Given the description of an element on the screen output the (x, y) to click on. 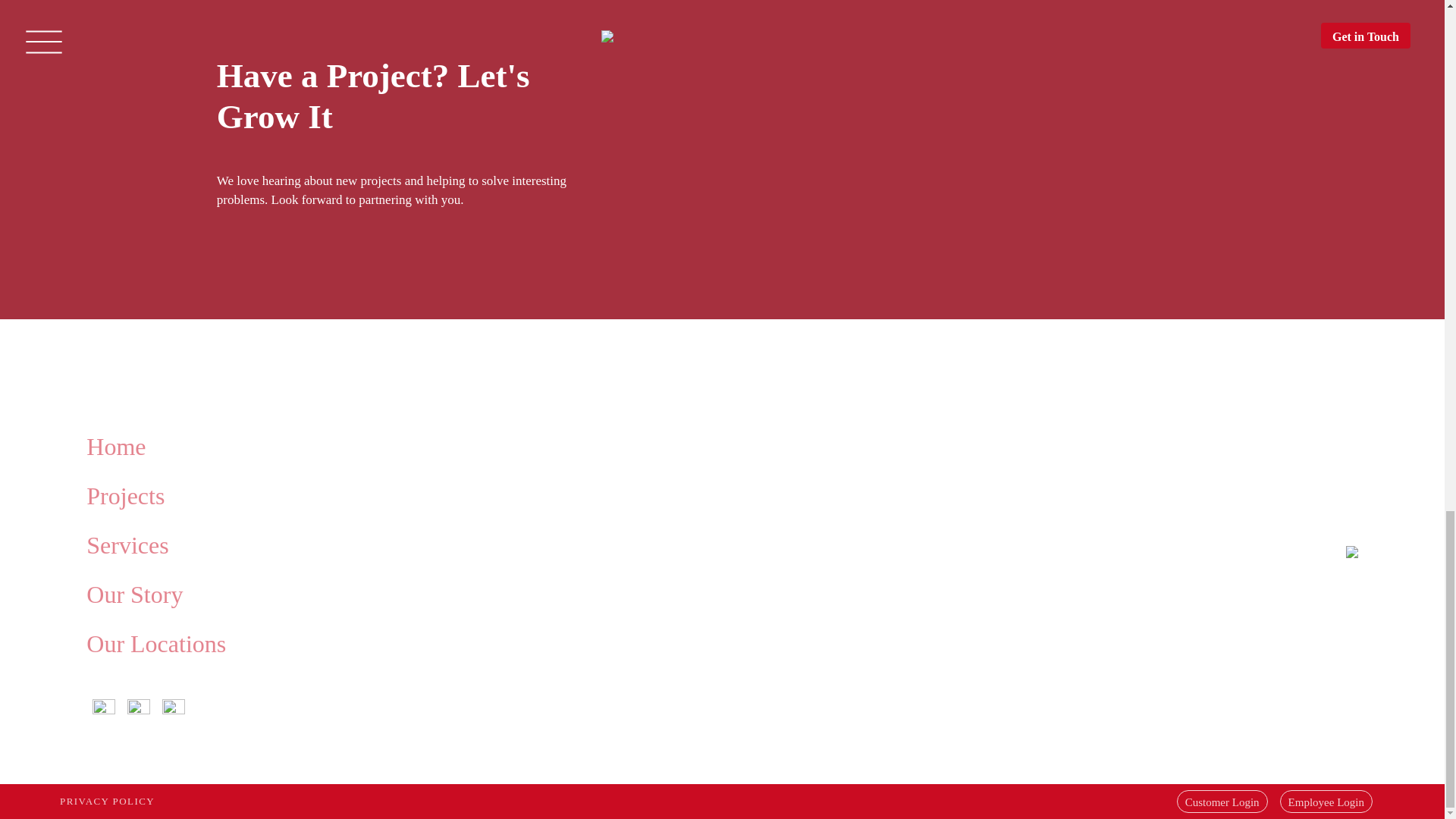
Customer Login (1222, 800)
Our Story (134, 593)
Employee Login (1326, 800)
Our Locations (155, 643)
Services (126, 544)
PRIVACY POLICY (106, 800)
Projects (124, 494)
Home (115, 446)
